Given the description of an element on the screen output the (x, y) to click on. 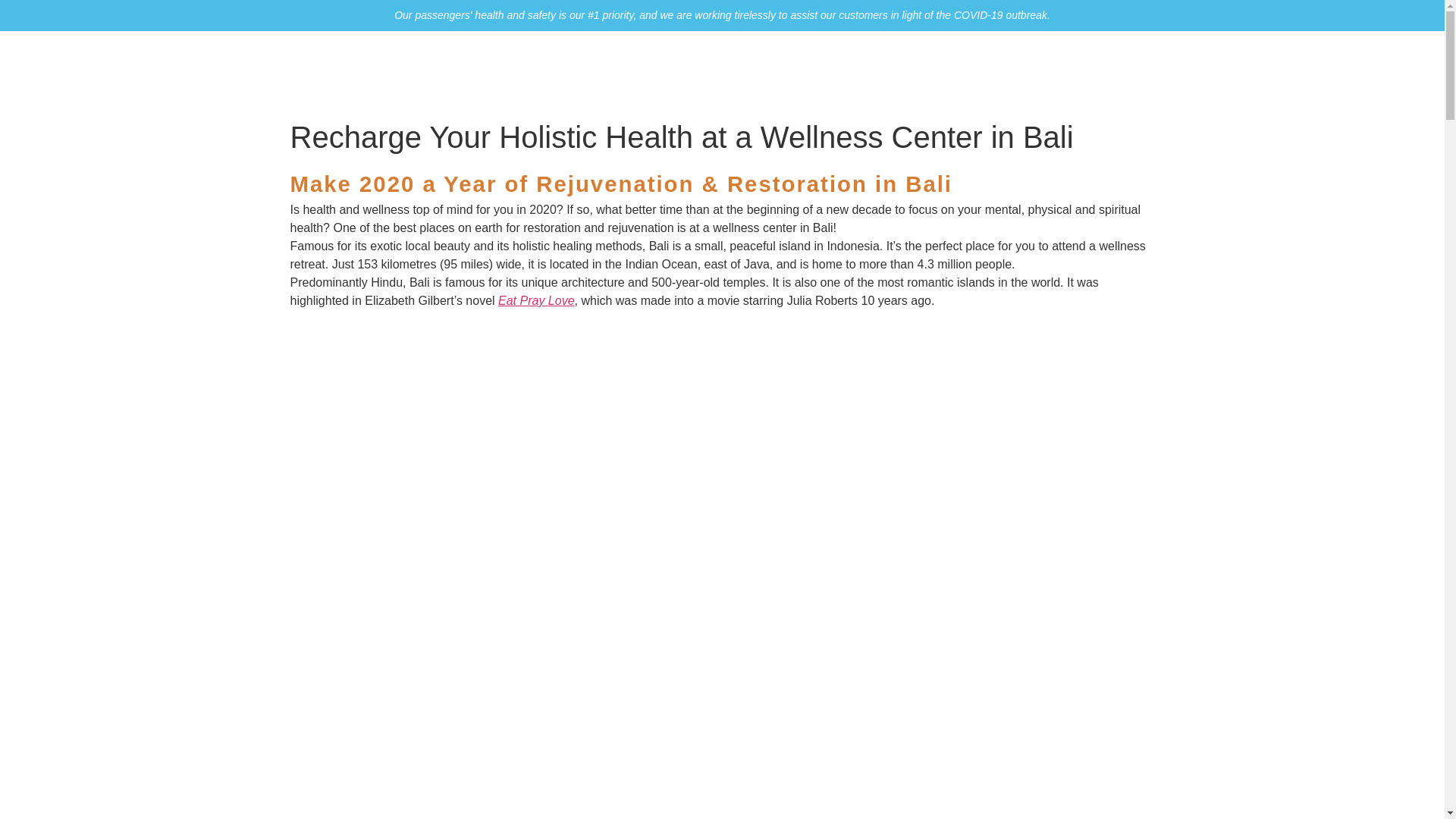
Home (756, 71)
Eat Pray Love (536, 300)
Offers (983, 71)
Travel Styles (908, 71)
About Me (822, 71)
Contact (1096, 71)
Blogs (1037, 71)
